Given the description of an element on the screen output the (x, y) to click on. 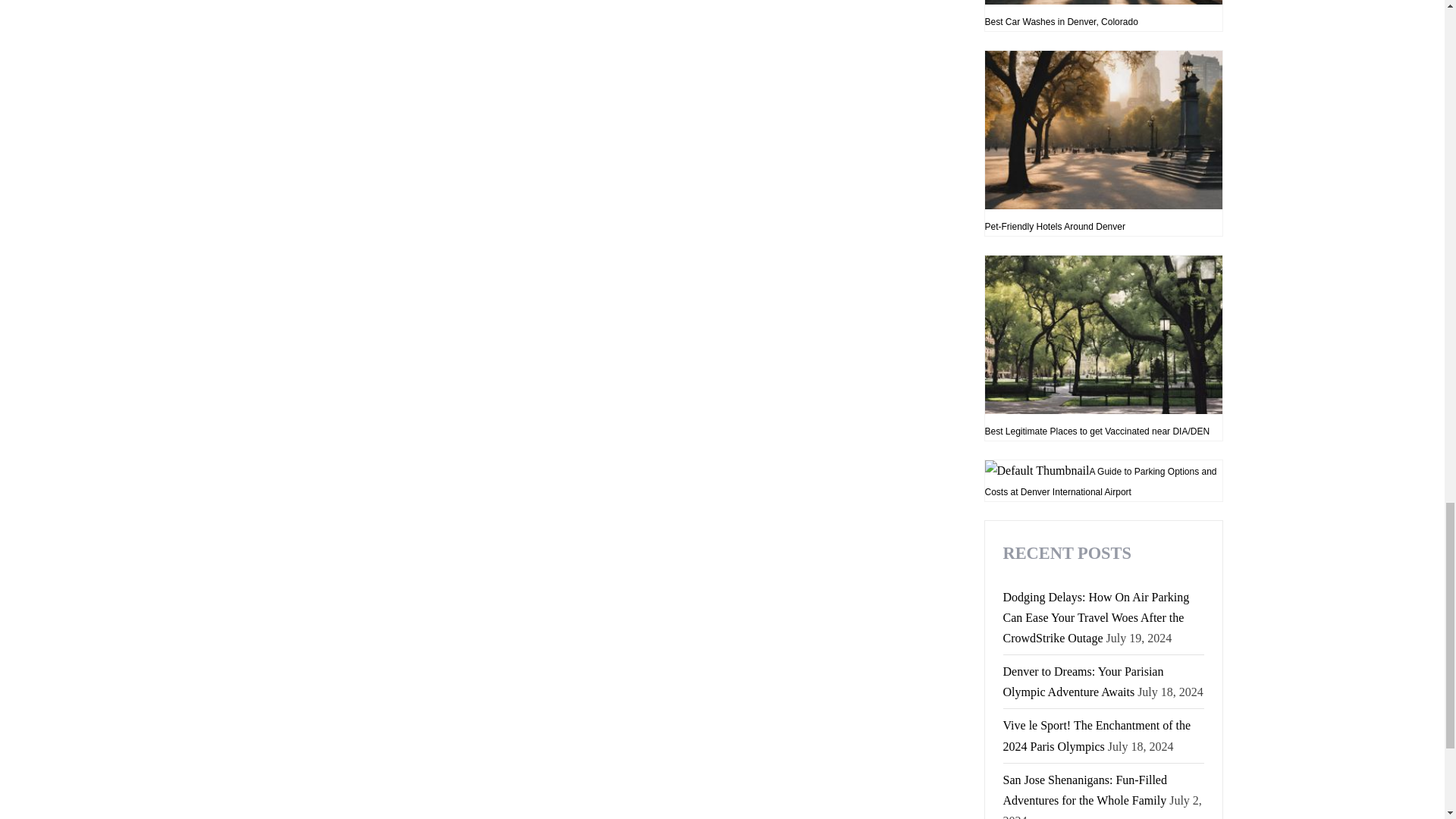
Best Car Washes in Denver, Colorado (1103, 15)
Pet-Friendly Hotels Around Denver (1103, 142)
